Given the description of an element on the screen output the (x, y) to click on. 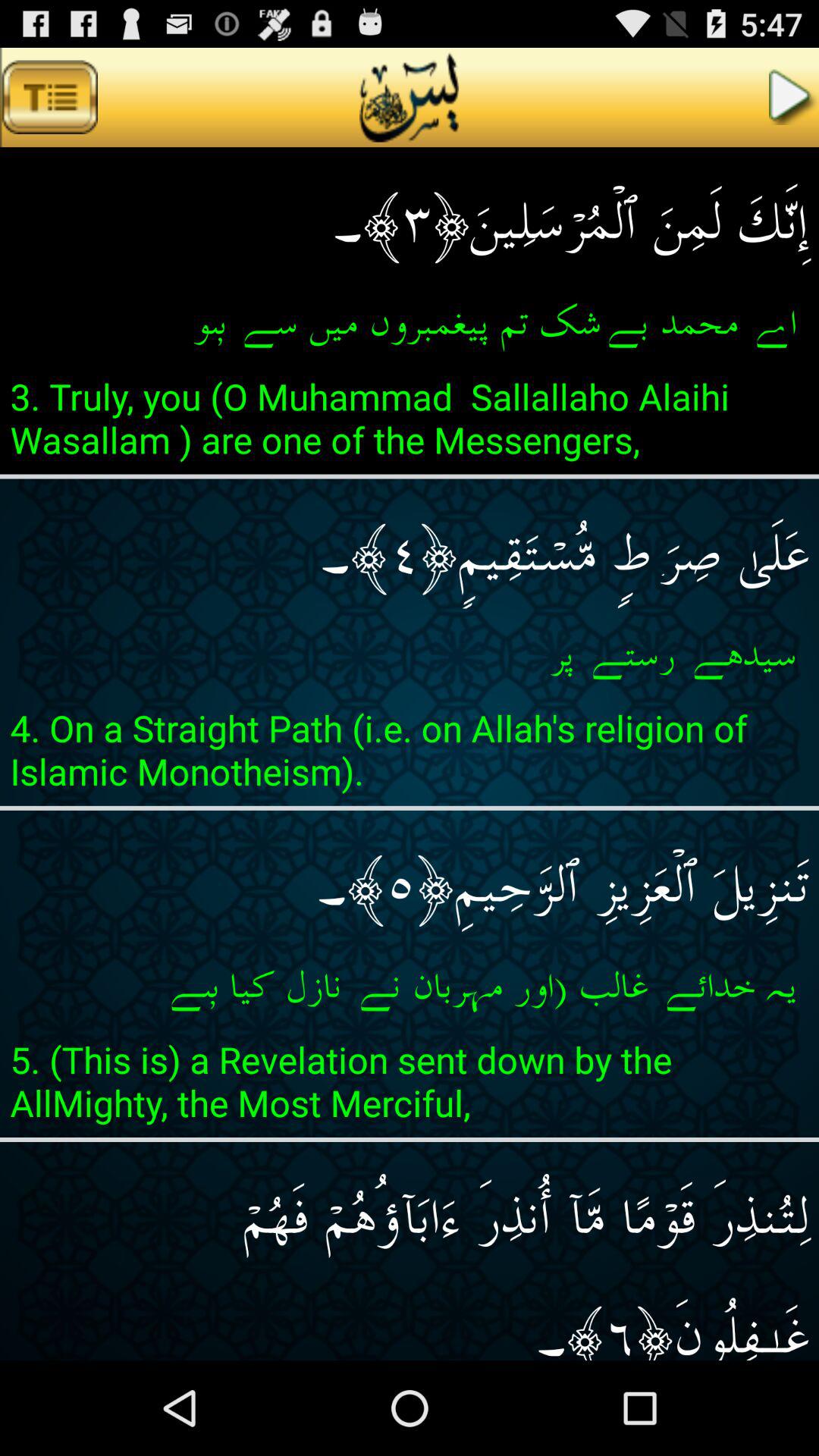
press button at the top right corner (793, 97)
